Given the description of an element on the screen output the (x, y) to click on. 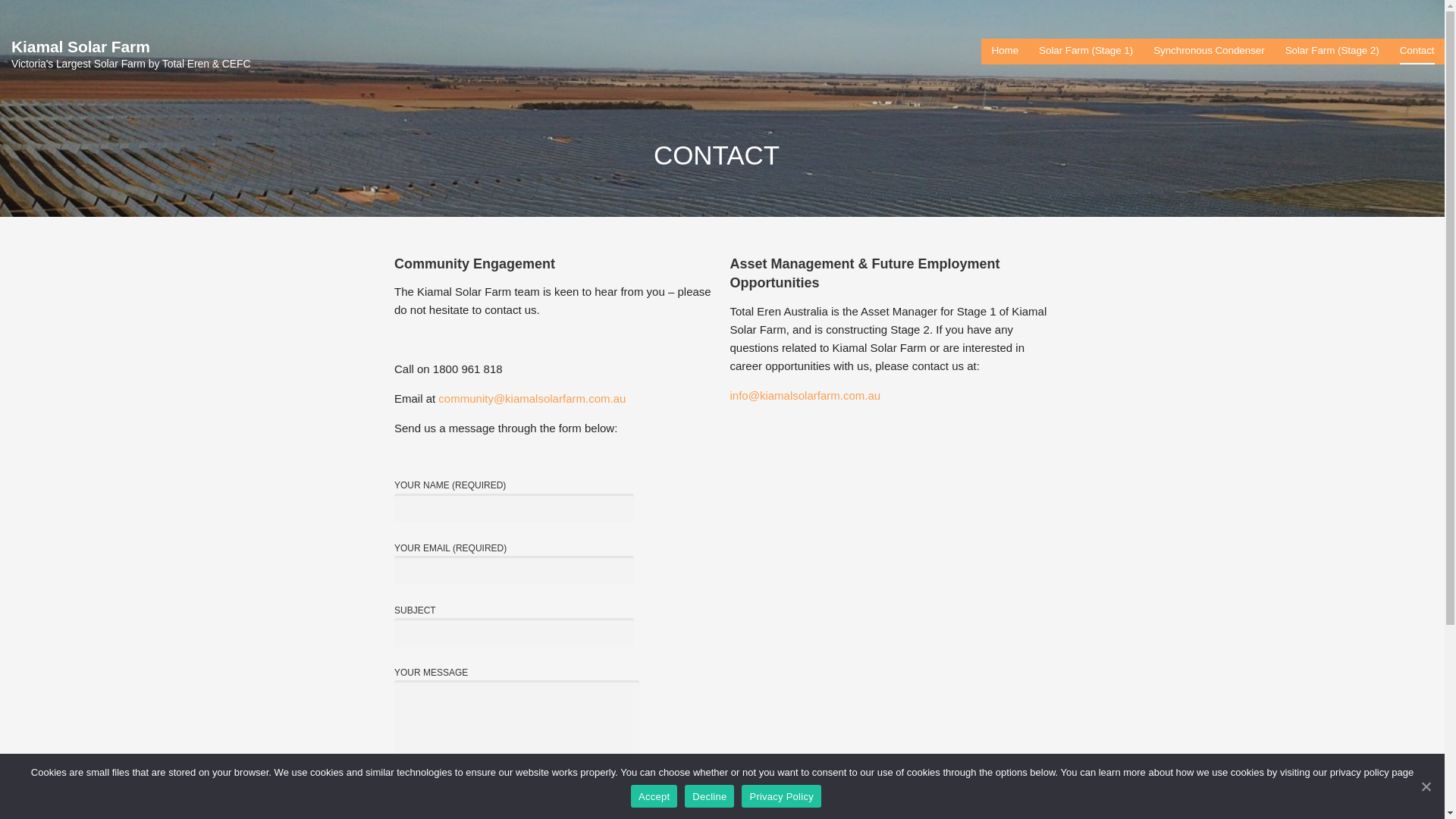
Home Element type: text (1004, 51)
Kiamal Solar Farm Element type: text (80, 46)
Accept Element type: text (653, 795)
Decline Element type: text (709, 795)
info@kiamalsolarfarm.com.au Element type: text (804, 395)
Solar Farm (Stage 2) Element type: text (1332, 51)
Synchronous Condenser Element type: text (1208, 51)
Contact Element type: text (1416, 51)
Solar Farm (Stage 1) Element type: text (1085, 51)
community@kiamalsolarfarm.com.au  Element type: text (533, 398)
Privacy Policy Element type: text (780, 795)
